Given the description of an element on the screen output the (x, y) to click on. 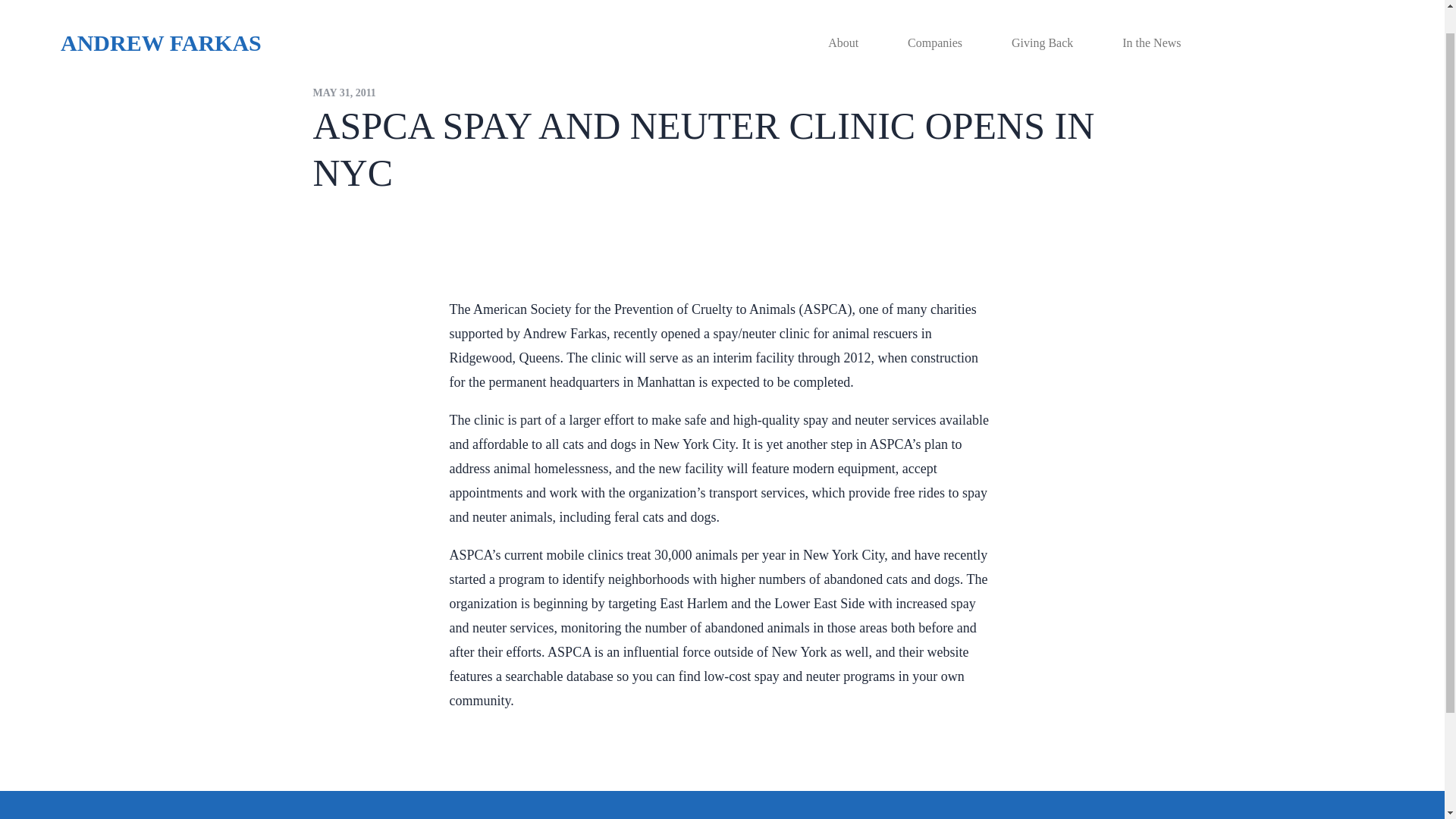
About (843, 15)
In the News (1151, 15)
Companies (934, 15)
ANDREW FARKAS (131, 29)
Giving Back (1042, 15)
